Given the description of an element on the screen output the (x, y) to click on. 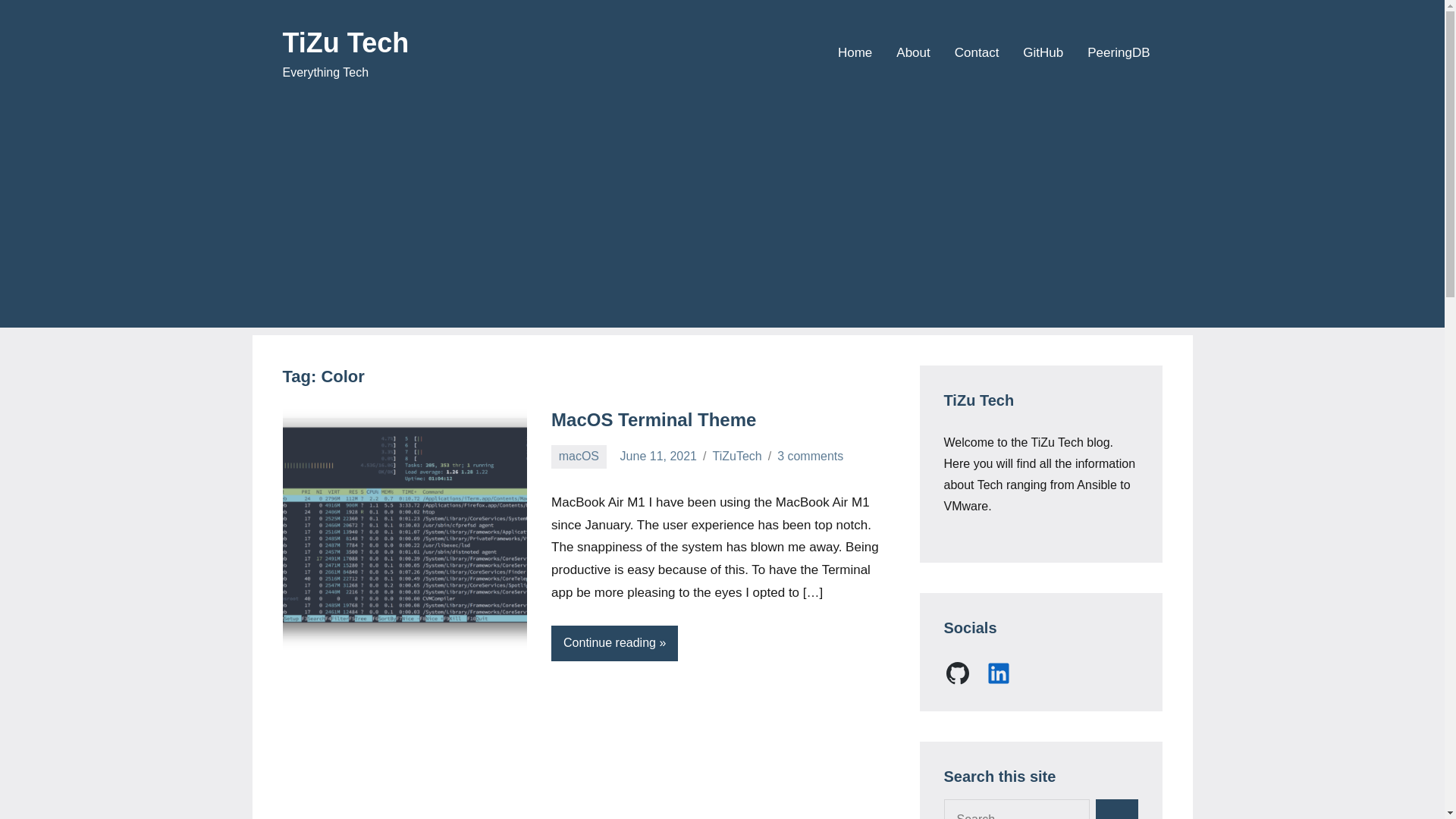
LinkedIn (997, 673)
macOS (579, 456)
Contact (976, 53)
June 11, 2021 (658, 455)
View all posts by TiZuTech (736, 455)
TiZu Tech (345, 42)
Search (1115, 809)
GitHub (957, 673)
Search for: (1016, 809)
Continue reading (614, 642)
About (913, 53)
TiZuTech (736, 455)
3 comments (810, 455)
GitHub (1042, 53)
